Given the description of an element on the screen output the (x, y) to click on. 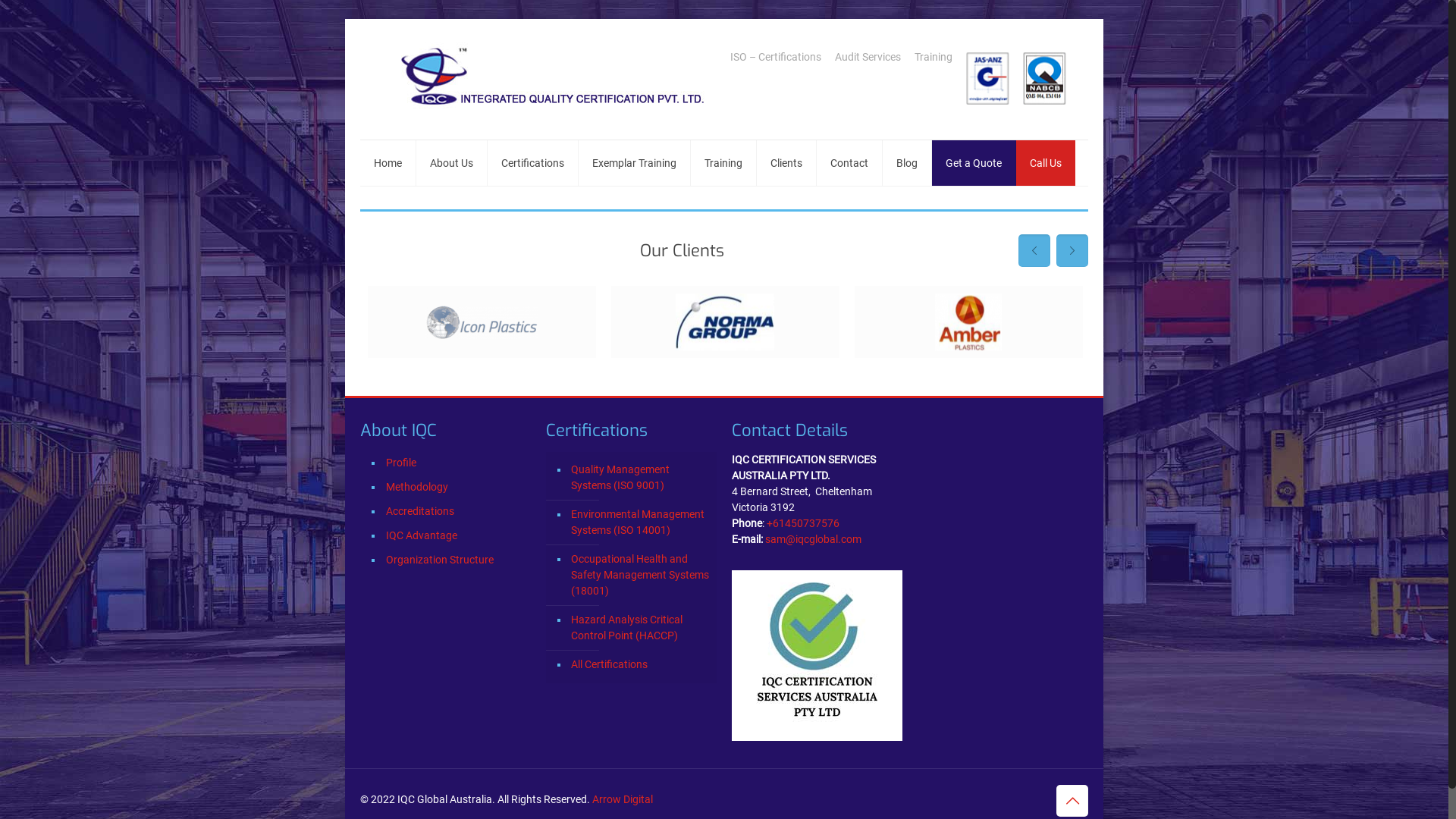
All Certifications Element type: text (638, 664)
Audit Services Element type: text (867, 56)
Accreditations Element type: text (456, 512)
Occupational Health and Safety Management Systems (18001) Element type: text (638, 575)
About Us Element type: text (451, 162)
Training Element type: text (723, 162)
Contact Element type: text (849, 162)
Exemplar Training Element type: text (634, 162)
Call Us Element type: text (1045, 162)
+61450737576 Element type: text (802, 523)
Certifications Element type: text (532, 162)
Clients Element type: text (786, 162)
Organization Structure Element type: text (456, 561)
Profile Element type: text (456, 463)
IQC Advantage Element type: text (456, 536)
Blog Element type: text (906, 162)
Arrow Digital Element type: text (622, 799)
Home Element type: text (388, 162)
Methodology Element type: text (456, 488)
Hazard Analysis Critical Control Point (HACCP) Element type: text (638, 627)
IQC Global Australia Element type: hover (543, 78)
Quality Management Systems (ISO 9001) Element type: text (638, 477)
sam@iqcglobal.com Element type: text (813, 539)
Training Element type: text (933, 56)
Environmental Management Systems (ISO 14001) Element type: text (638, 522)
Get a Quote Element type: text (973, 162)
